Given the description of an element on the screen output the (x, y) to click on. 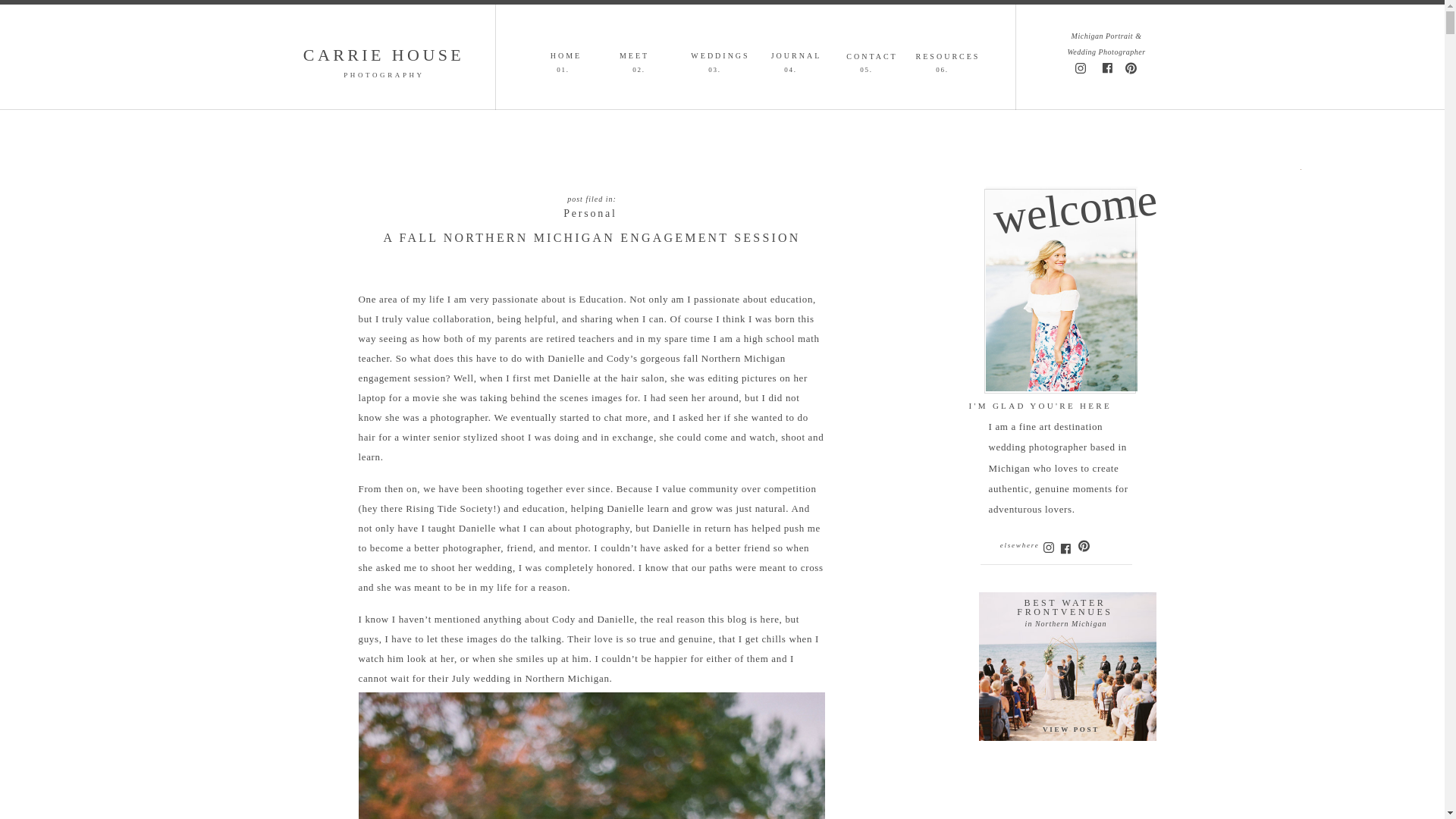
RESOURCES (947, 54)
CONTACT (872, 54)
Personal (590, 213)
04. (789, 68)
MEET (633, 53)
01. (562, 68)
VIEW POST (1071, 730)
PHOTOGRAPHY (384, 72)
in Northern Michigan (1065, 623)
05. (865, 68)
06. (941, 68)
WEDDINGS (720, 53)
CARRIE HOUSE (383, 56)
HOME (565, 53)
03. (713, 68)
